Given the description of an element on the screen output the (x, y) to click on. 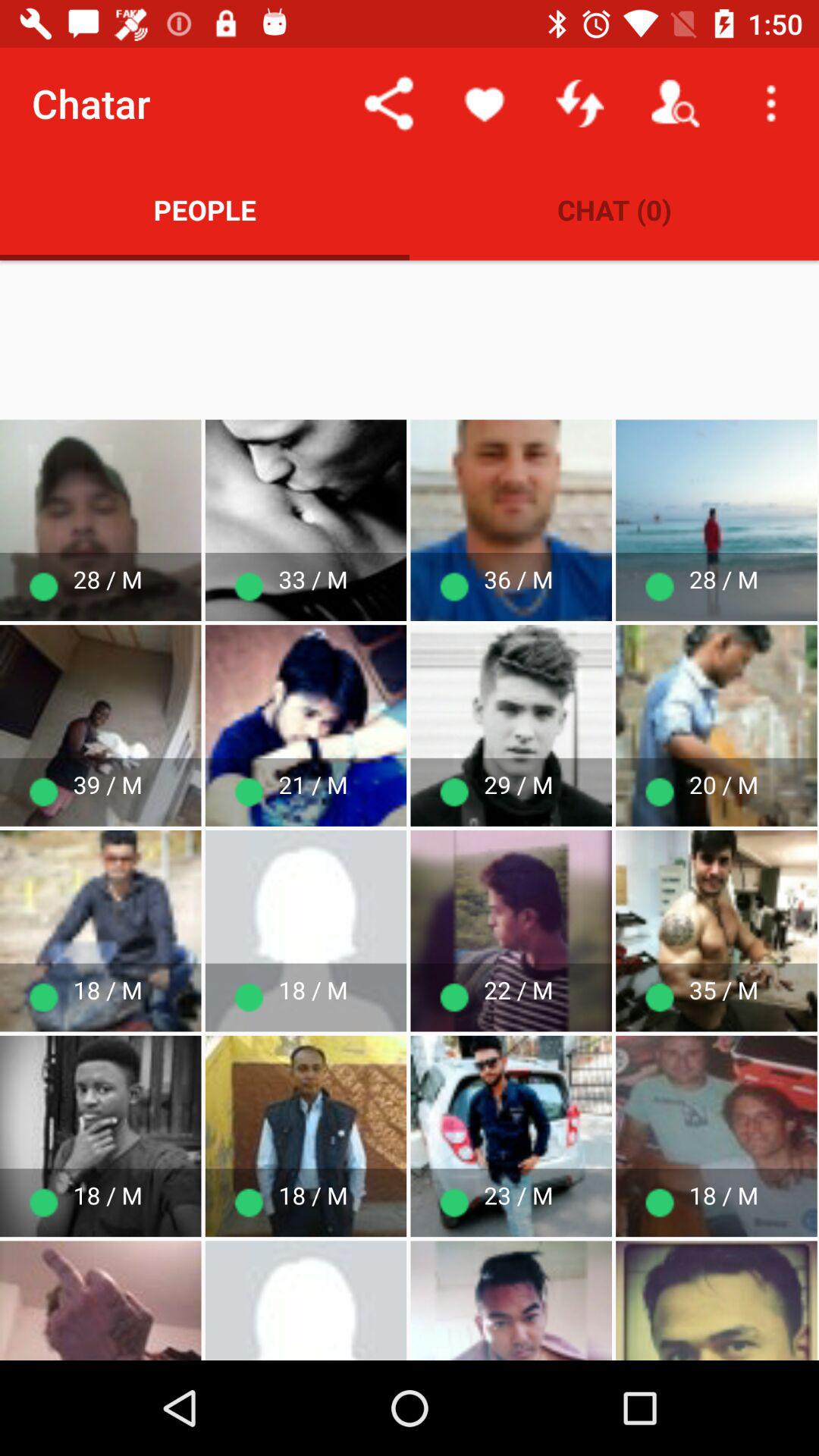
press the item above people (388, 103)
